Given the description of an element on the screen output the (x, y) to click on. 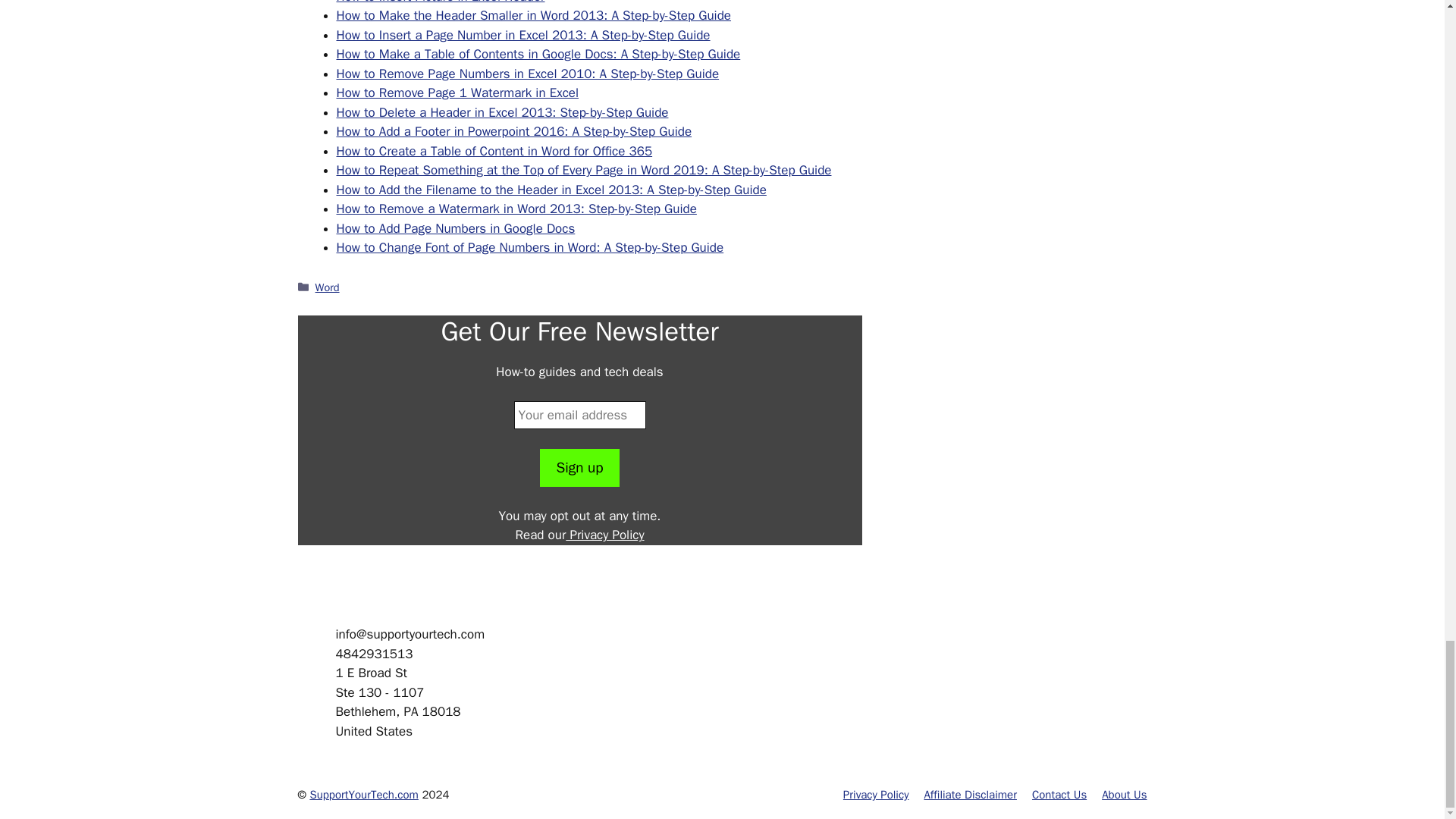
How to Create a Table of Content in Word for Office 365 (494, 150)
How to Add Page Numbers in Google Docs (455, 228)
How to Remove Page 1 Watermark in Excel (457, 92)
How to Delete a Header in Excel 2013: Step-by-Step Guide (502, 112)
Word (327, 287)
How to Insert Picture in Excel Header (440, 2)
How to Remove a Watermark in Word 2013: Step-by-Step Guide (516, 208)
Sign up (579, 467)
